Given the description of an element on the screen output the (x, y) to click on. 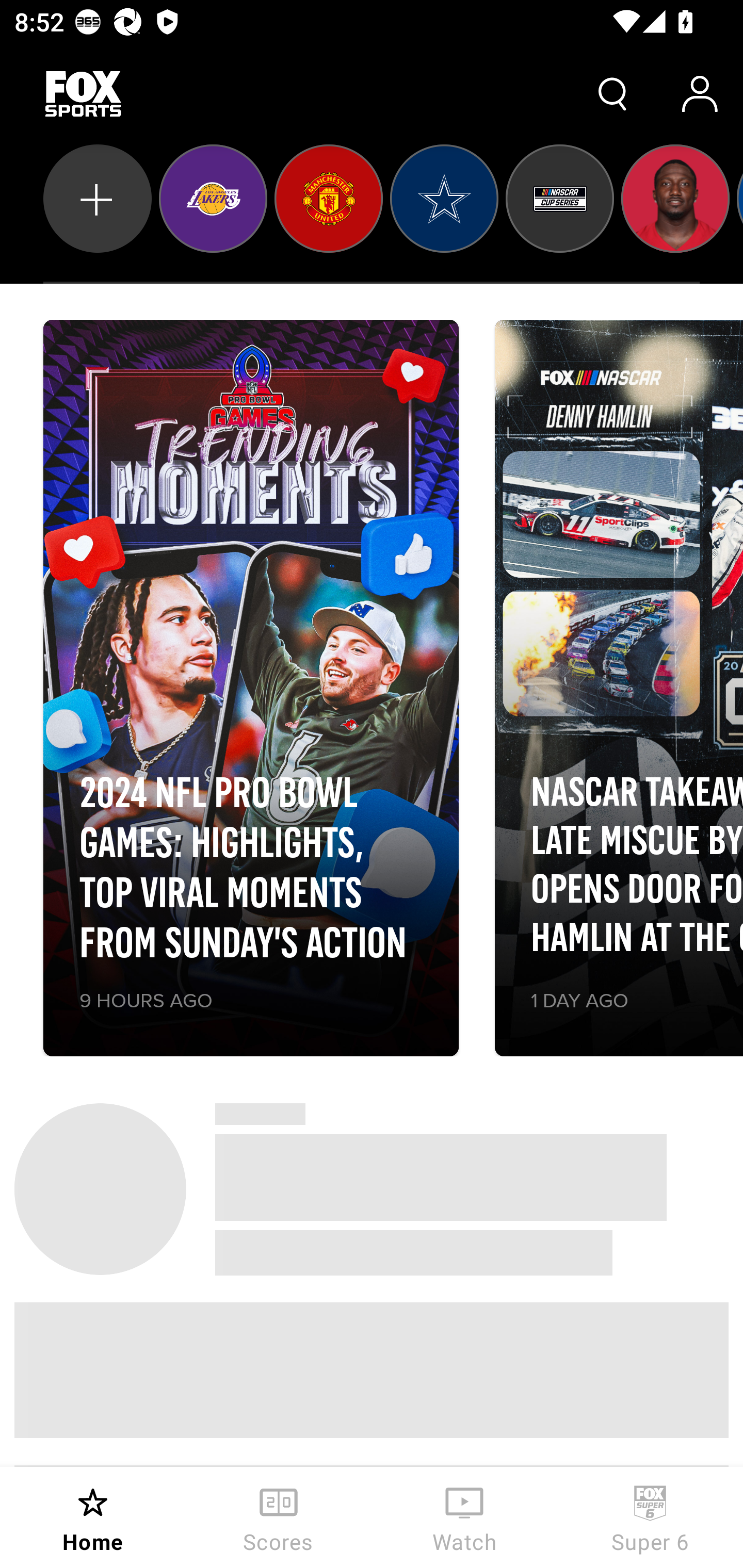
Search (612, 93)
Account (699, 93)
Scores (278, 1517)
Watch (464, 1517)
Super 6 (650, 1517)
